Given the description of an element on the screen output the (x, y) to click on. 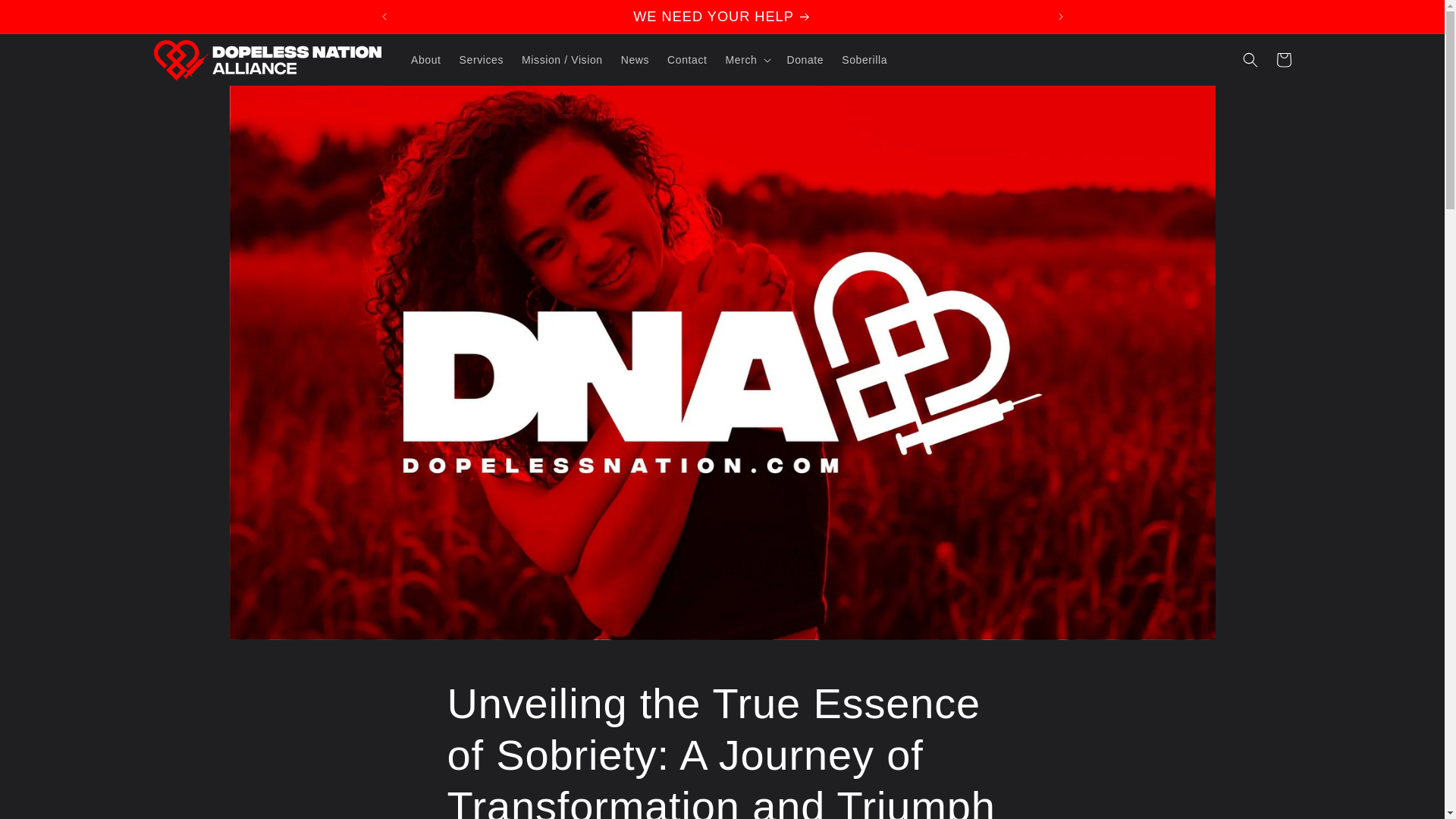
Soberilla (864, 60)
Skip to content (45, 17)
Cart (1283, 59)
Services (480, 60)
News (634, 60)
WE NEED YOUR HELP (721, 16)
About (425, 60)
Contact (687, 60)
Donate (804, 60)
